Given the description of an element on the screen output the (x, y) to click on. 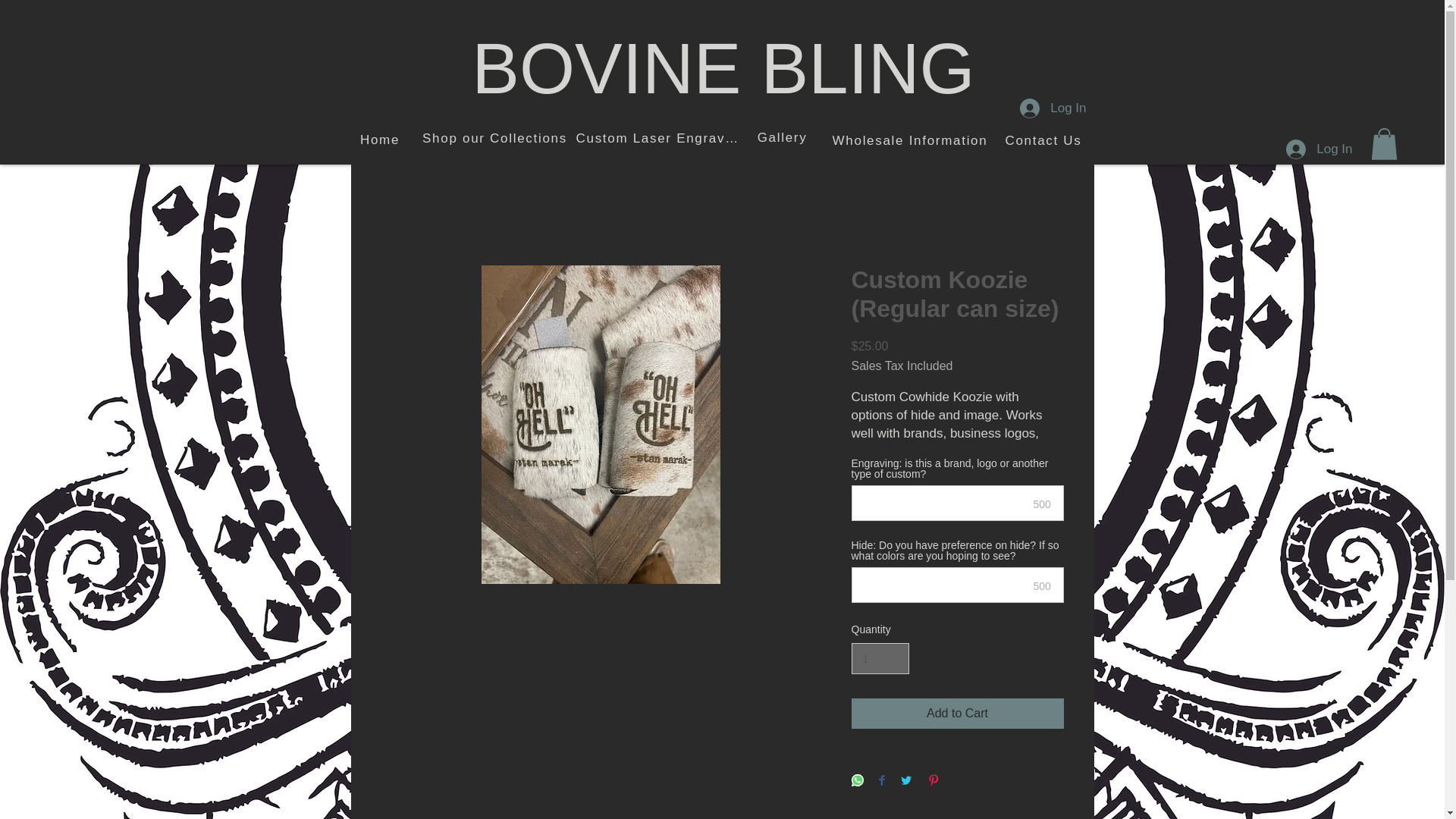
1 (879, 658)
Add to Cart (956, 713)
Gallery (783, 137)
Home (381, 140)
Log In (1318, 149)
Log In (1052, 108)
Contact Us (1044, 141)
Wholesale Information (911, 141)
Shop our Collections (496, 138)
Custom Laser Engraving (660, 138)
